Given the description of an element on the screen output the (x, y) to click on. 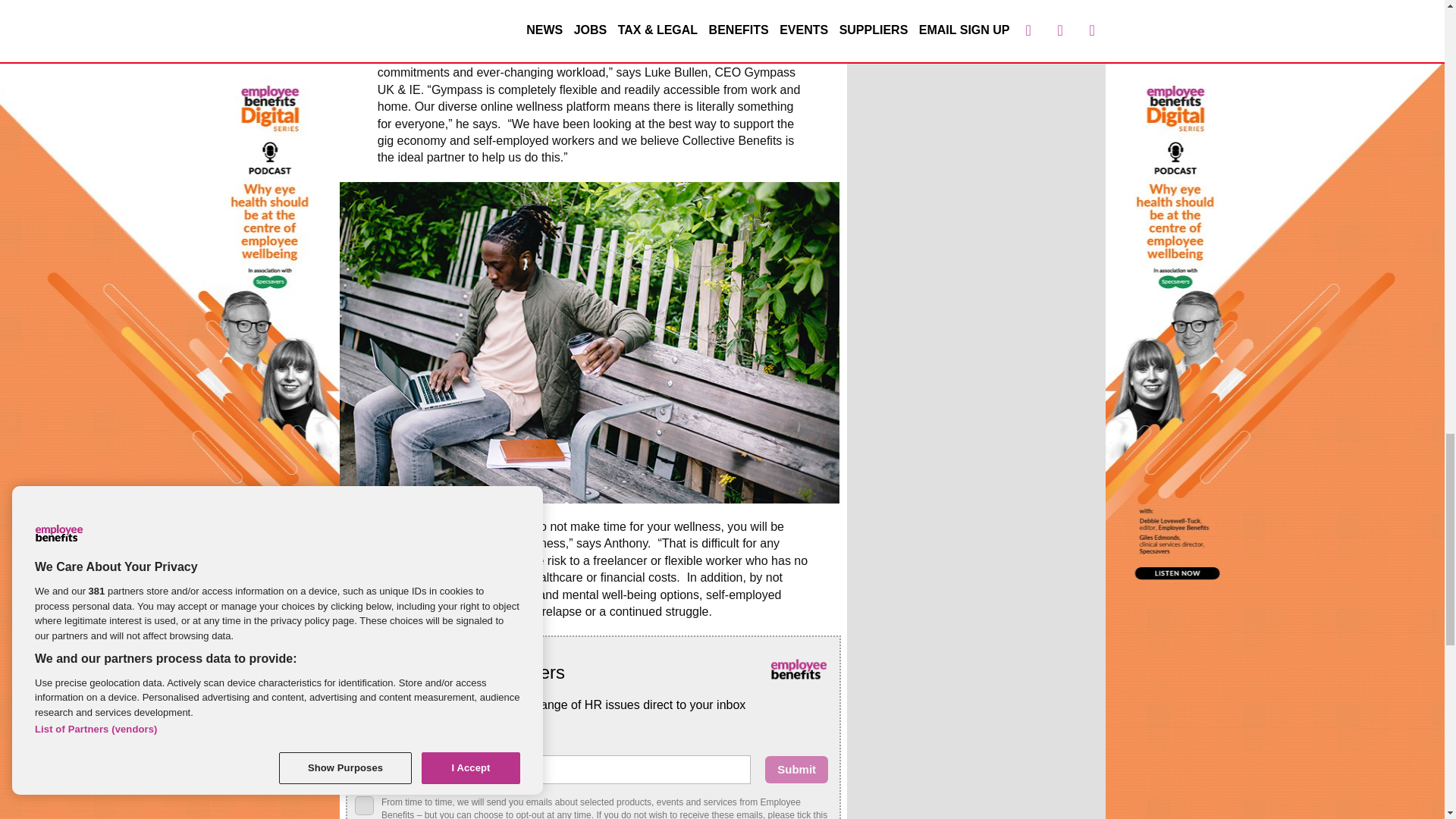
Submit (796, 768)
Submit (796, 768)
yes (364, 805)
